Given the description of an element on the screen output the (x, y) to click on. 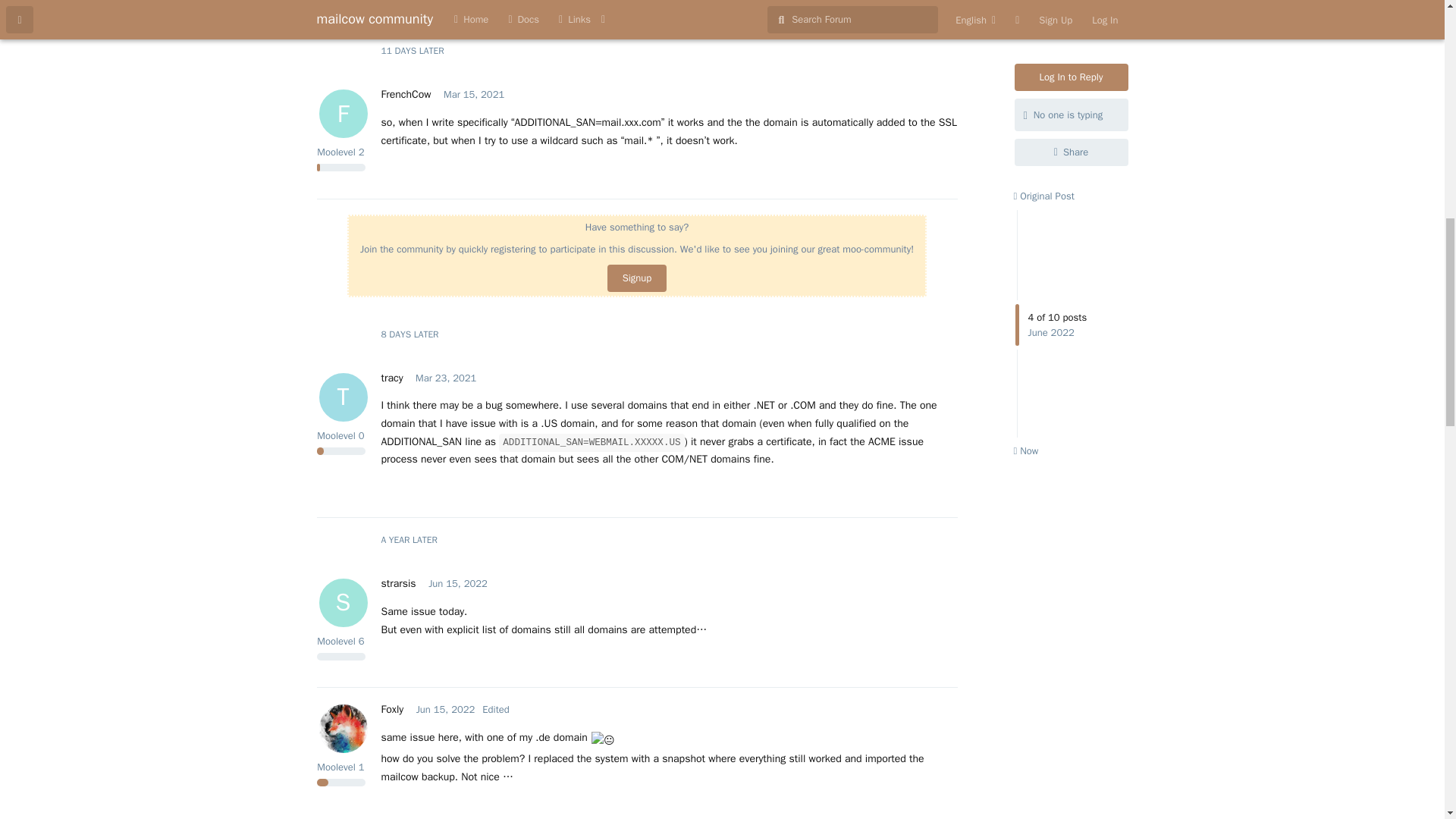
Wednesday, June 15, 2022 9:35 AM (457, 583)
Signup (391, 377)
Tuesday, March 23, 2021 10:41 PM (636, 277)
Mar 15, 2021 (445, 377)
Wednesday, June 15, 2022 5:28 PM (473, 93)
Monday, March 15, 2021 11:56 PM (446, 708)
Jun 15, 2022 (473, 93)
Mar 23, 2021 (397, 583)
